Given the description of an element on the screen output the (x, y) to click on. 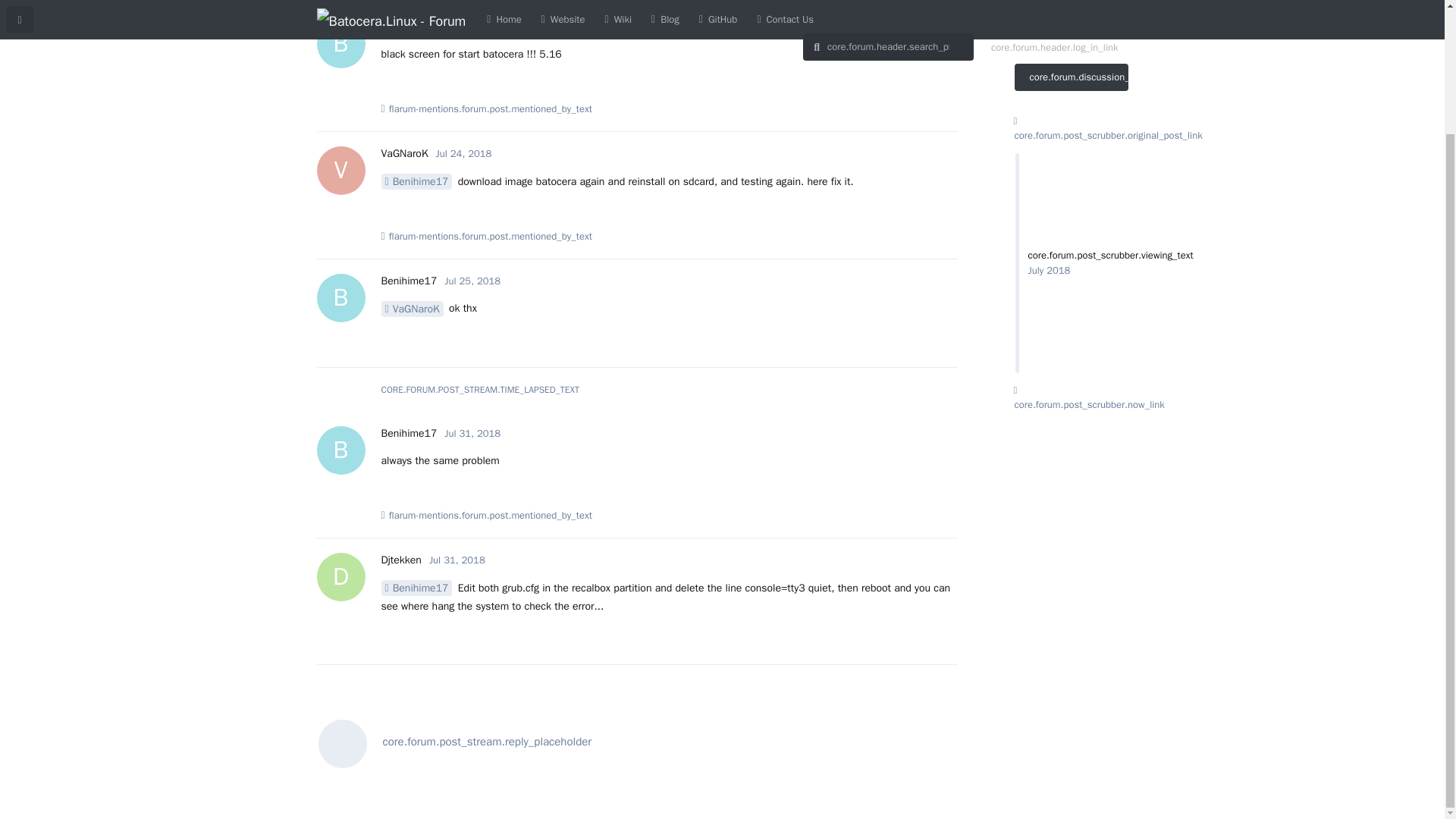
Wednesday, July 25, 2018 6:48 PM (404, 153)
VaGNaroK (472, 280)
Tuesday, July 24, 2018 6:18 AM (411, 308)
Tuesday, July 24, 2018 10:12 PM (408, 26)
Jul 31, 2018 (408, 280)
